Given the description of an element on the screen output the (x, y) to click on. 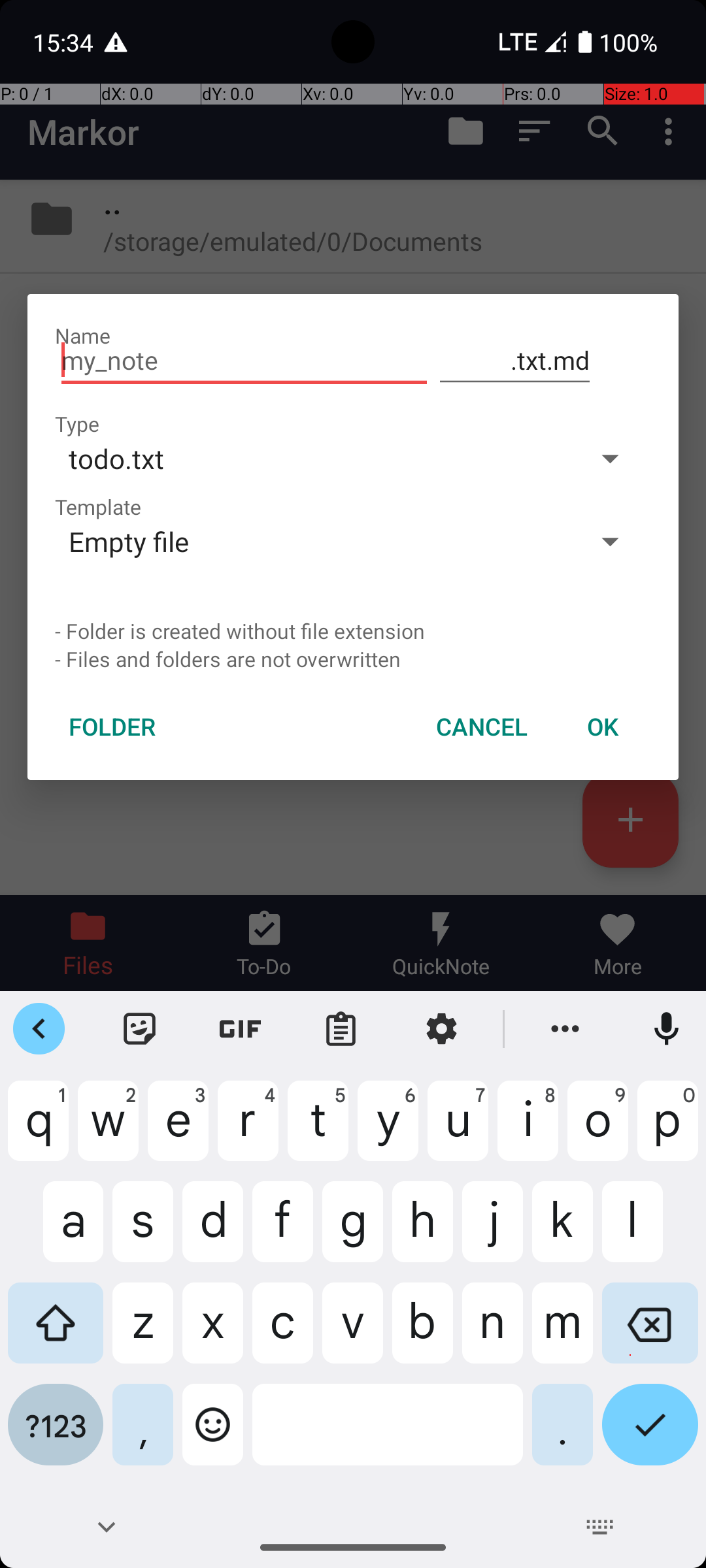
.txt.md Element type: android.widget.EditText (514, 360)
